Given the description of an element on the screen output the (x, y) to click on. 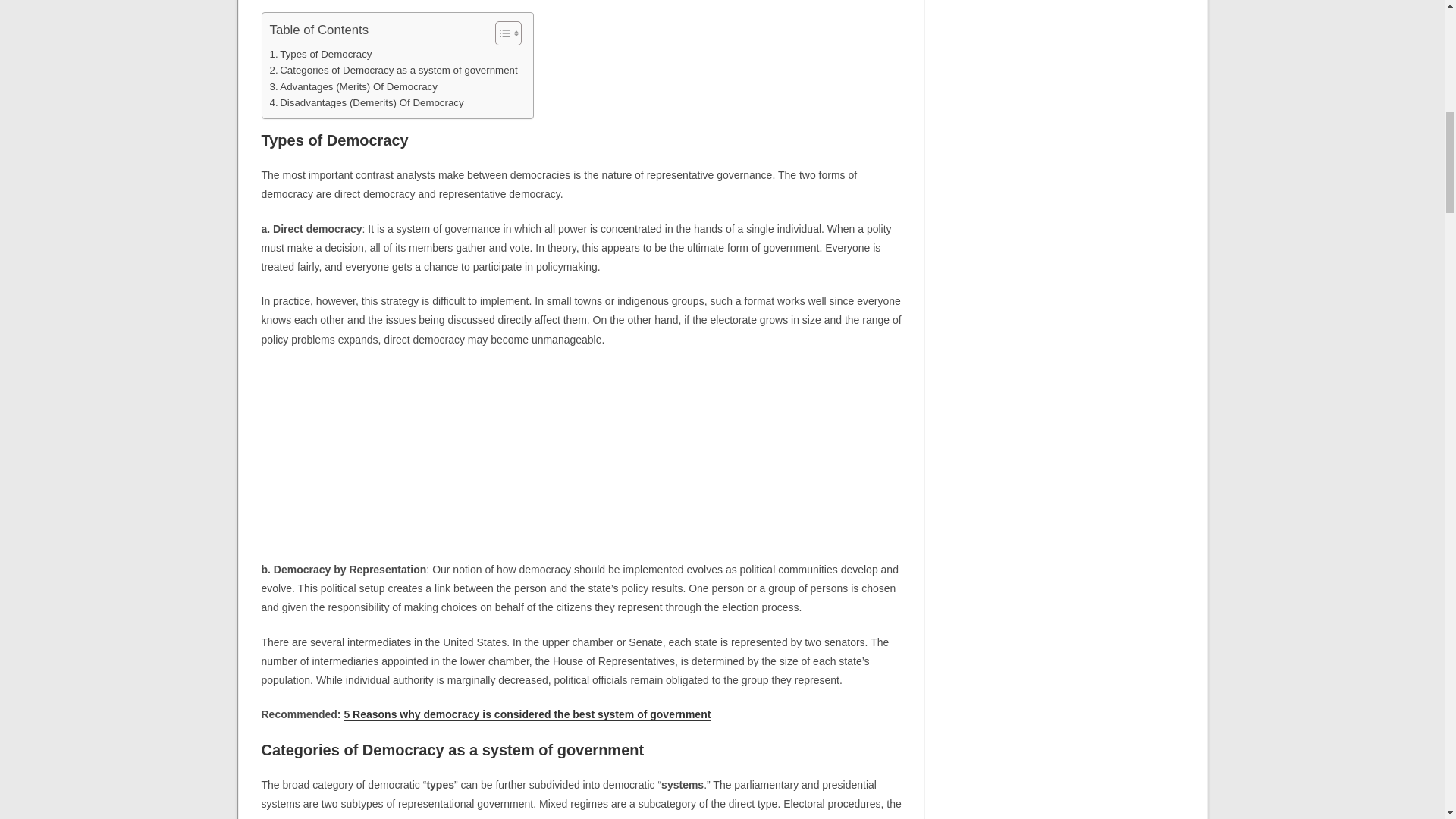
Types of Democracy (320, 53)
Types of Democracy (320, 53)
Categories of Democracy as a system of government (393, 69)
Categories of Democracy as a system of government (393, 69)
